Given the description of an element on the screen output the (x, y) to click on. 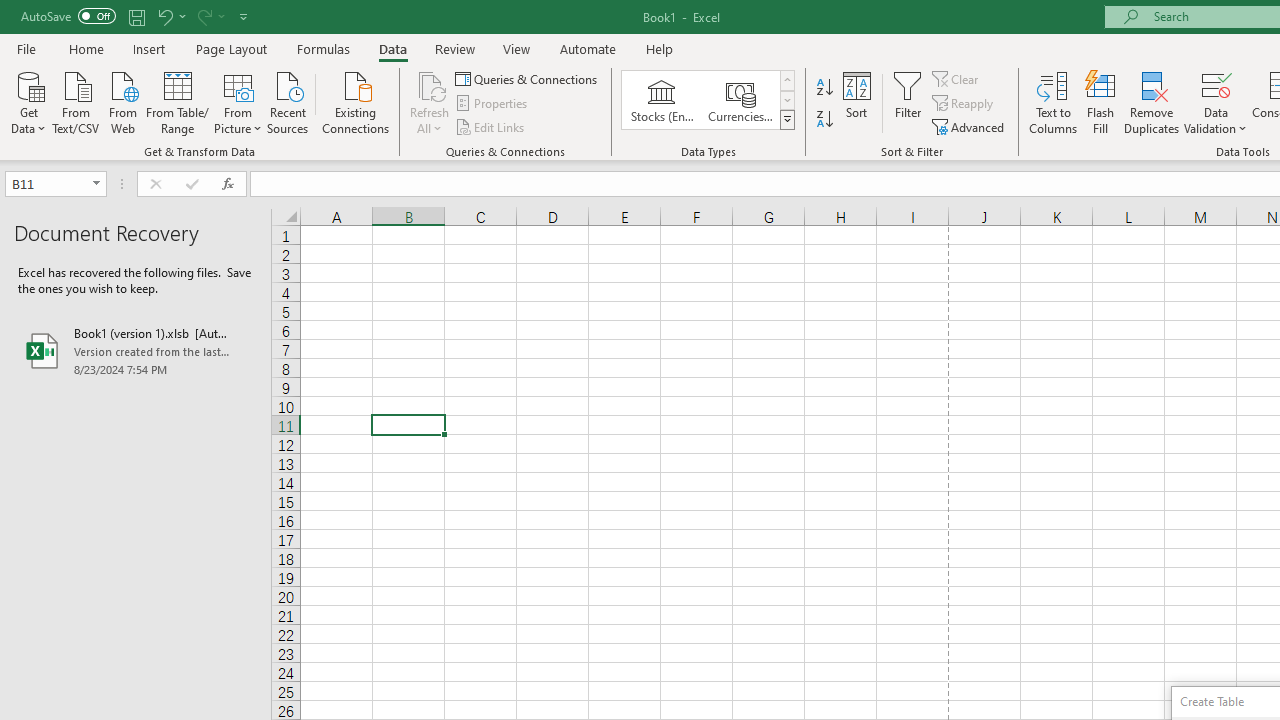
Stocks (English) (662, 100)
Advanced... (970, 126)
From Picture (238, 101)
Text to Columns... (1053, 102)
Row Down (786, 100)
From Web (122, 101)
